Given the description of an element on the screen output the (x, y) to click on. 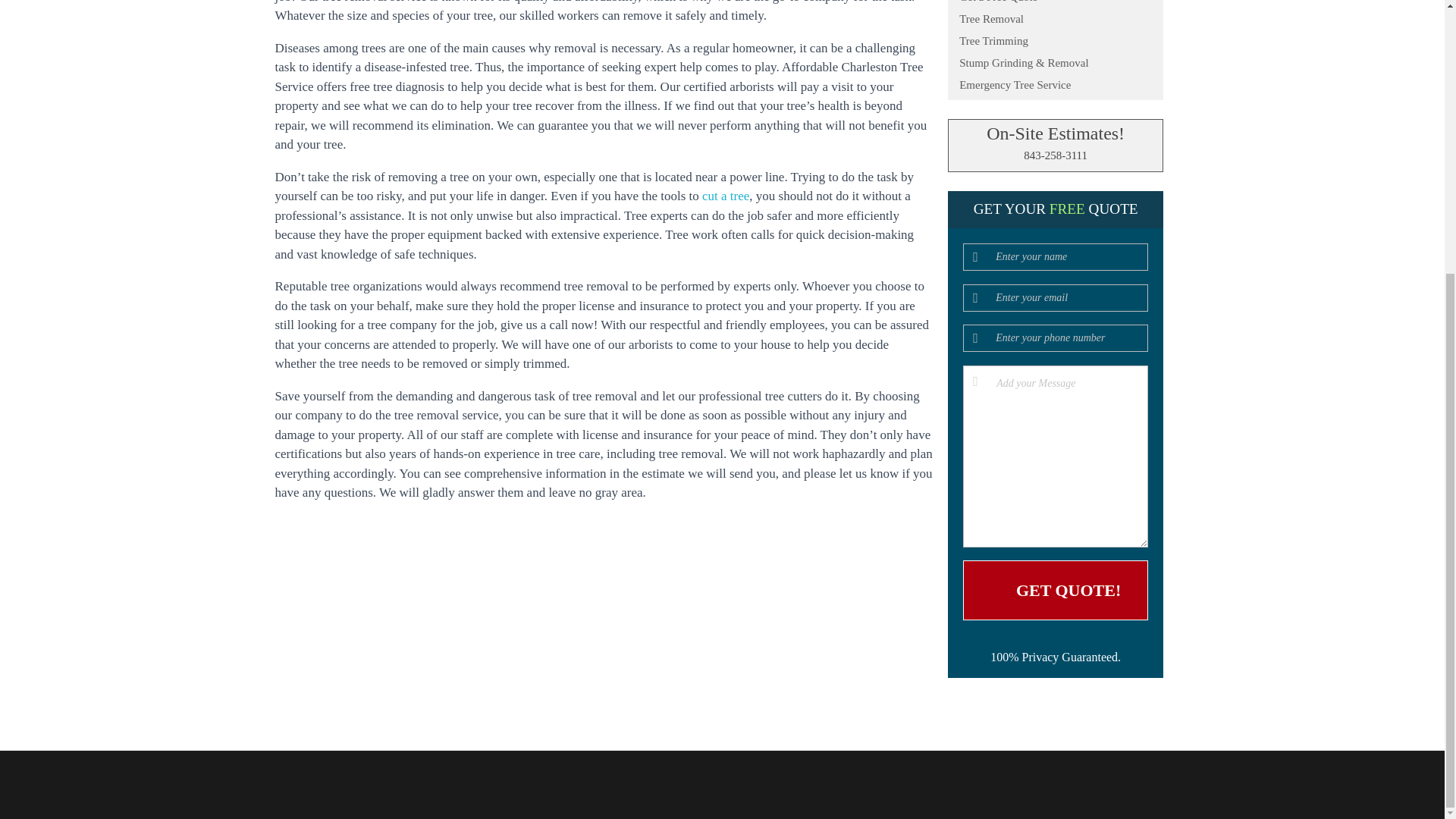
Emergency Tree Service (1055, 88)
Get Quote! (1055, 589)
Get Quote! (1055, 589)
Tree Trimming (1055, 45)
843-258-3111 (1055, 159)
Tree Removal (1055, 23)
cut a tree (725, 196)
Get a Free Quote (1055, 6)
